Given the description of an element on the screen output the (x, y) to click on. 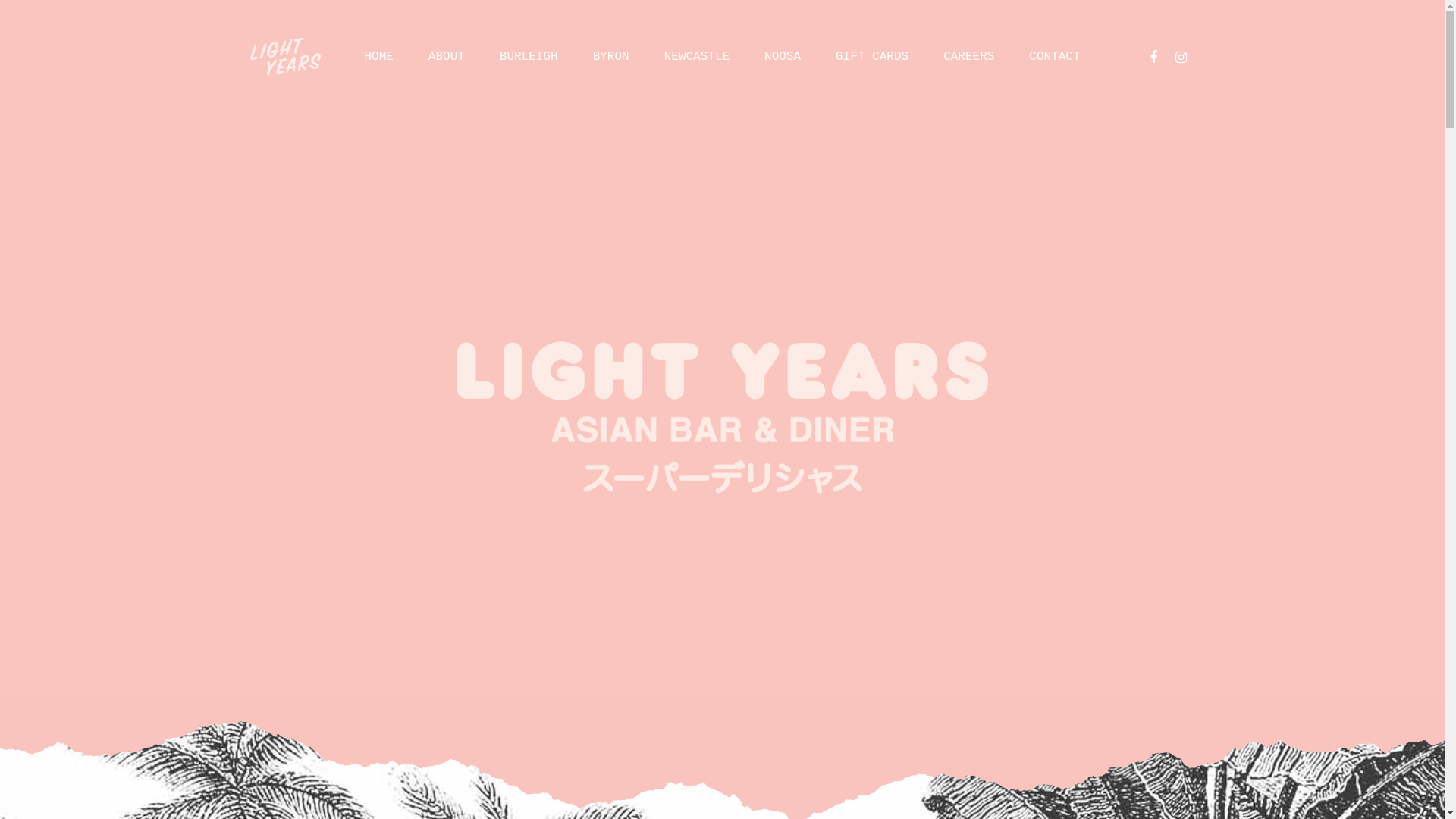
CAREERS Element type: text (968, 56)
GIFT CARDS Element type: text (871, 56)
HOME Element type: text (378, 56)
BYRON Element type: text (611, 56)
NOOSA Element type: text (782, 56)
CONTACT Element type: text (1054, 56)
NEWCASTLE Element type: text (696, 56)
BURLEIGH Element type: text (528, 56)
ABOUT Element type: text (446, 56)
